Given the description of an element on the screen output the (x, y) to click on. 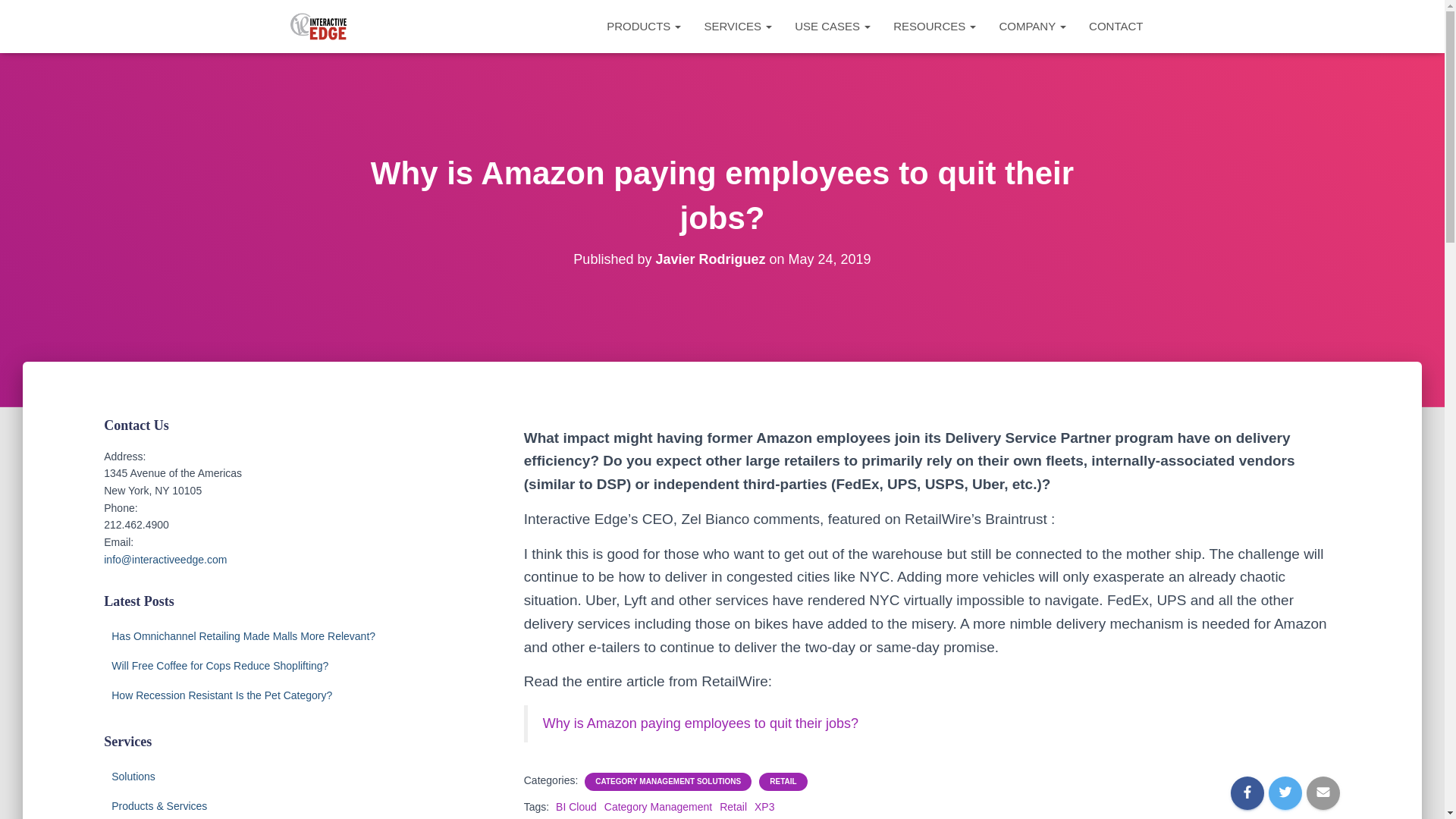
Use Cases (832, 26)
RESOURCES (934, 26)
USE CASES (832, 26)
Will Free Coffee for Cops Reduce Shoplifting? (220, 665)
PRODUCTS (644, 26)
Javier Rodriguez (710, 258)
SERVICES (738, 26)
Has Omnichannel Retailing Made Malls More Relevant? (243, 635)
Products (644, 26)
CONTACT (1115, 26)
